Given the description of an element on the screen output the (x, y) to click on. 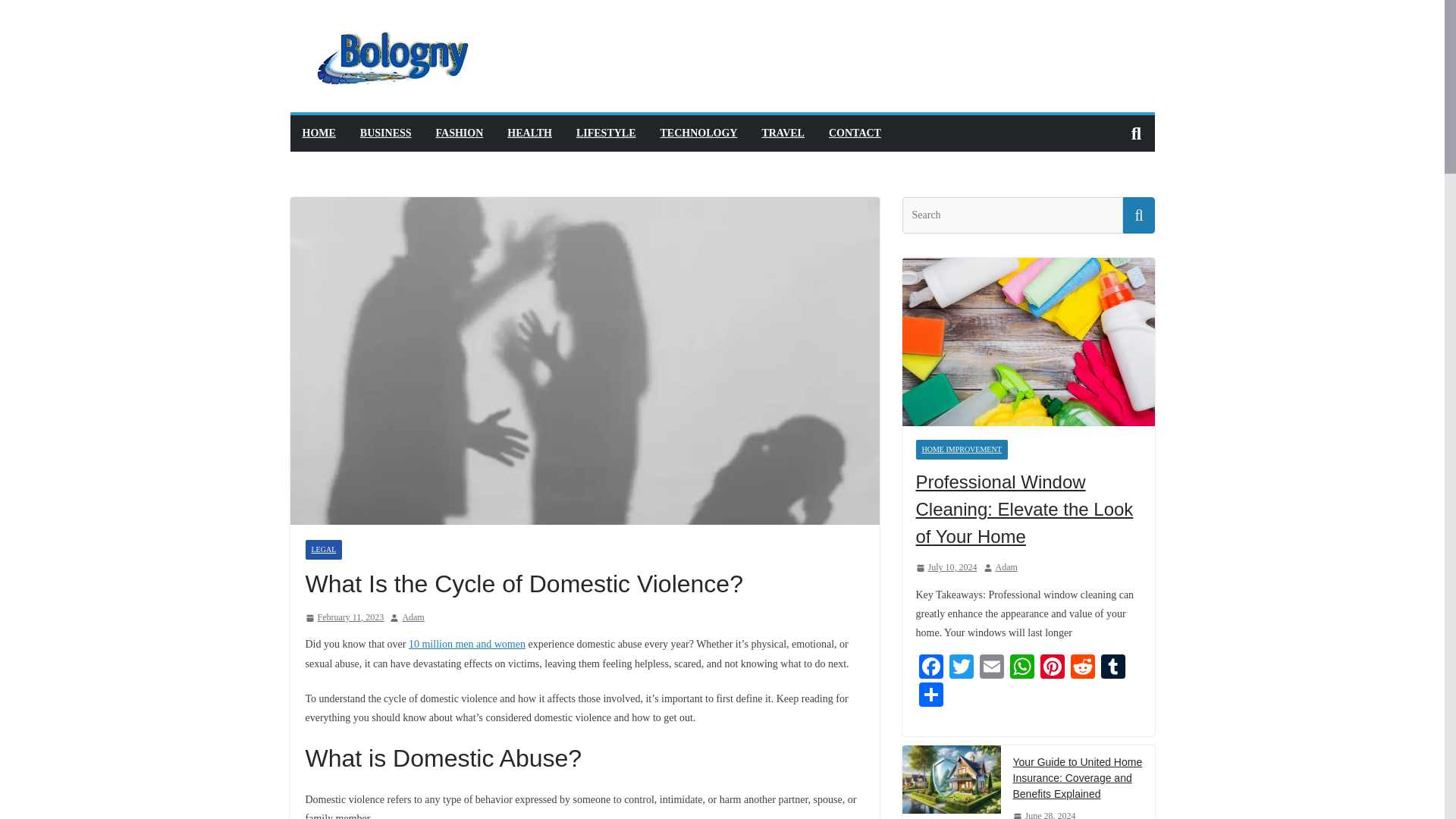
CONTACT (854, 133)
LEGAL (323, 549)
BUSINESS (385, 133)
Adam (412, 617)
10 million men and women (467, 644)
FASHION (459, 133)
Adam (412, 617)
TRAVEL (783, 133)
LIFESTYLE (606, 133)
HOME (317, 133)
February 11, 2023 (344, 617)
10:56 PM (344, 617)
HEALTH (528, 133)
TECHNOLOGY (699, 133)
